Given the description of an element on the screen output the (x, y) to click on. 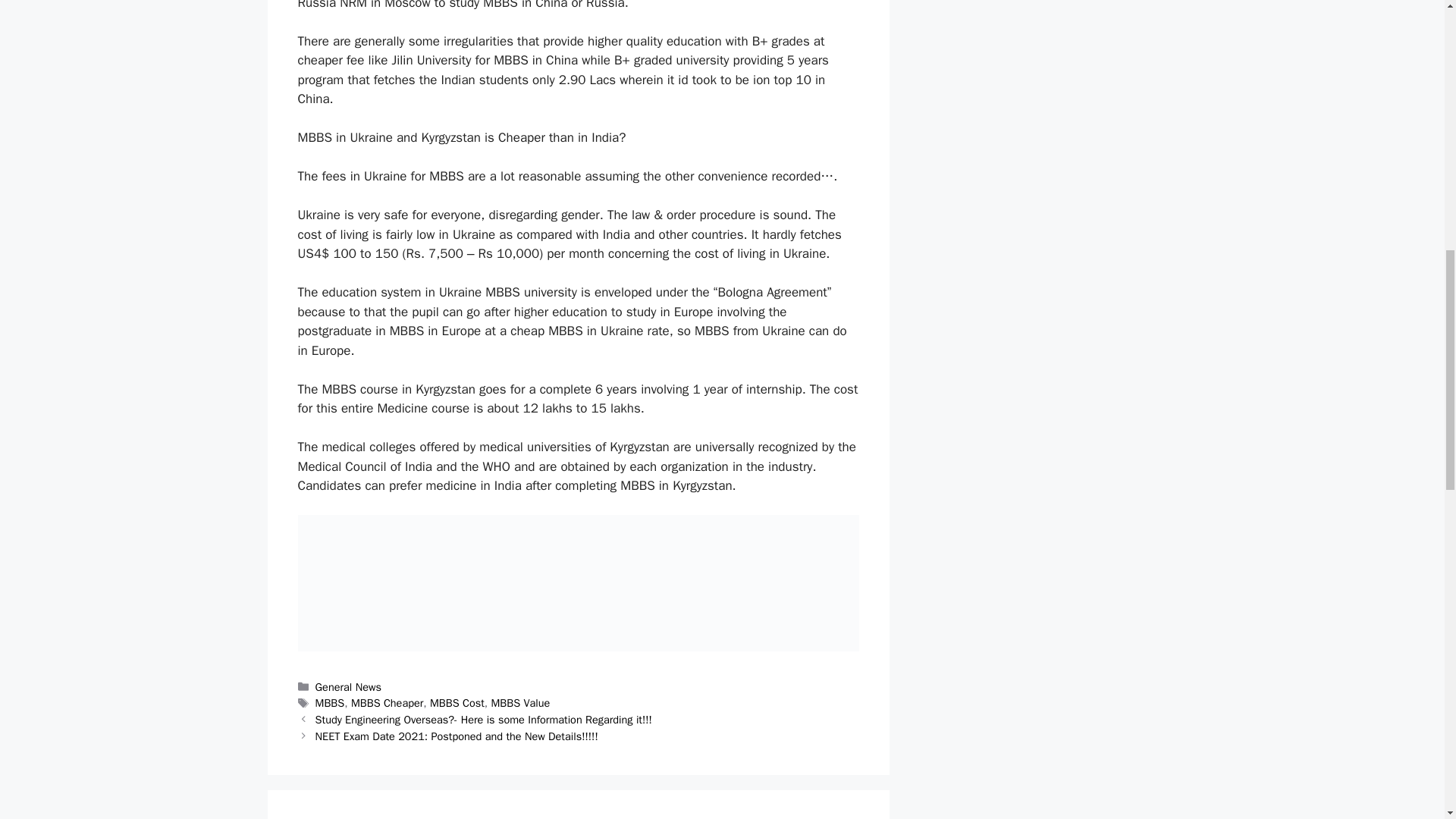
Scroll back to top (1406, 720)
